Given the description of an element on the screen output the (x, y) to click on. 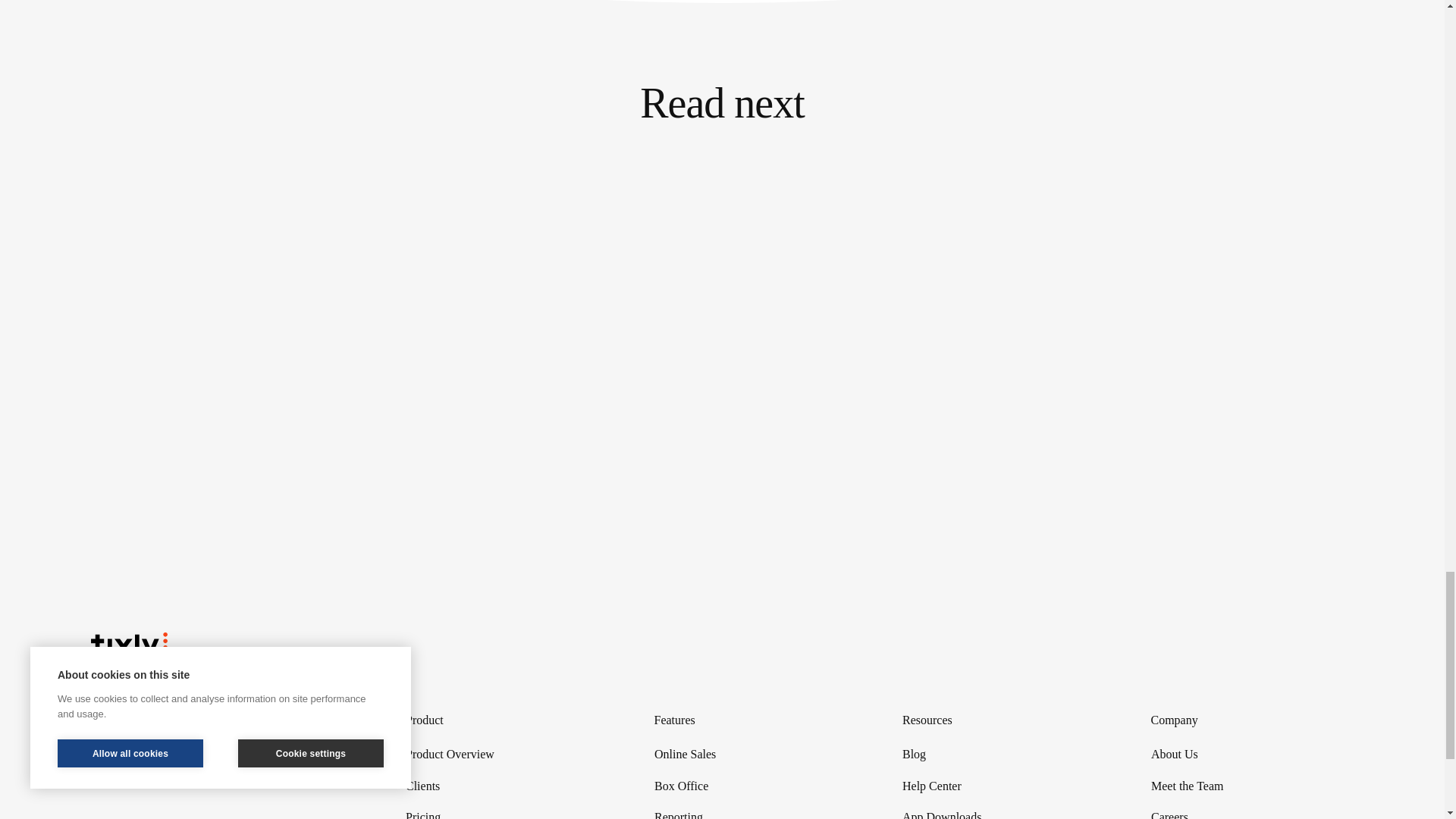
Box Office (755, 786)
About Us (1252, 754)
Careers (1252, 810)
Company (1252, 720)
Product (507, 720)
Help Center (1003, 786)
App Downloads (1003, 810)
Reporting (755, 810)
Resources (1003, 720)
Clients (507, 786)
Meet the Team (1252, 786)
Online Sales (755, 754)
Blog (1003, 754)
Pricing (507, 810)
Product Overview (507, 754)
